Given the description of an element on the screen output the (x, y) to click on. 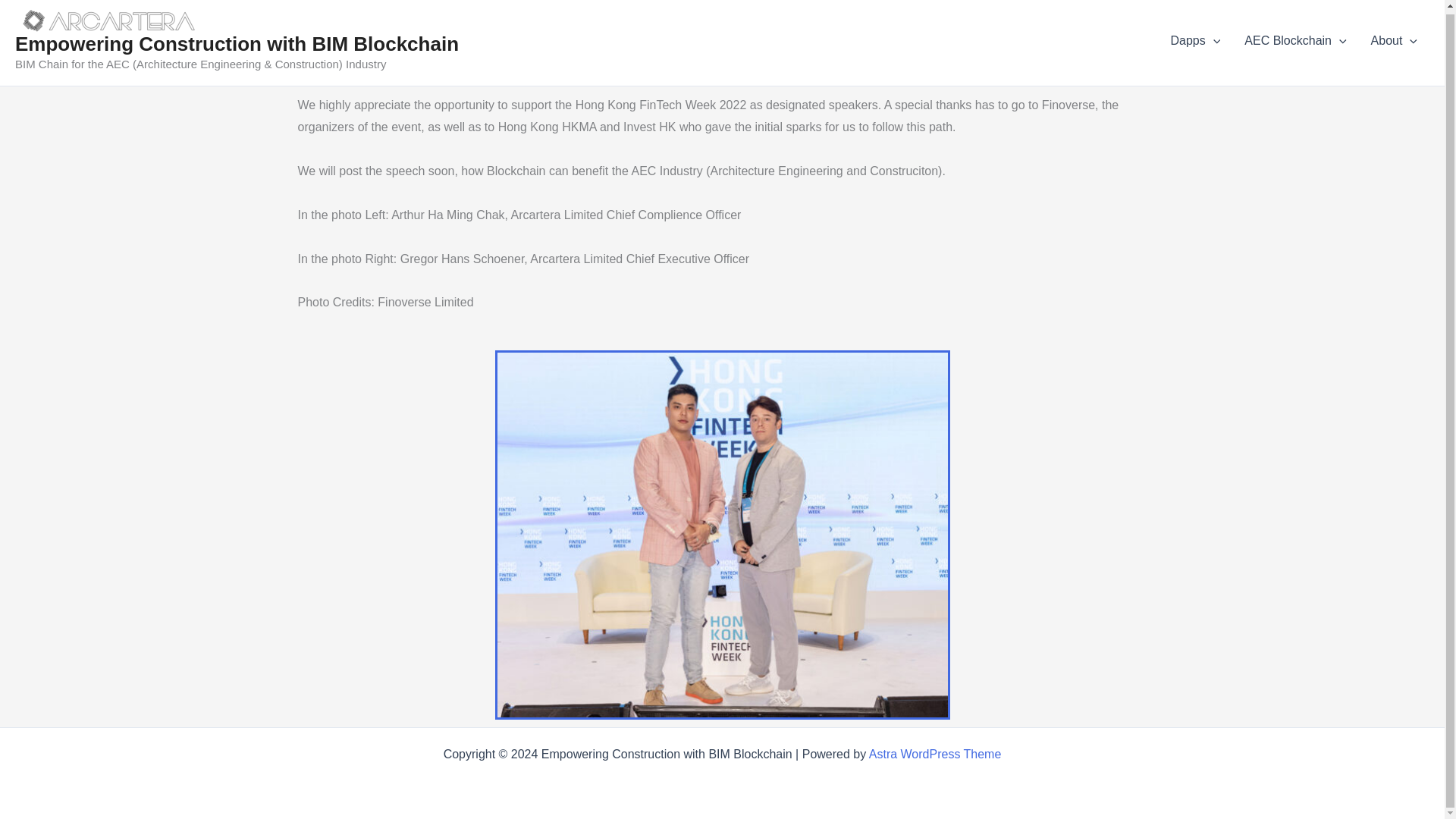
About (1393, 40)
Dapps (1194, 40)
AEC Blockchain (1294, 40)
Empowering Construction with BIM Blockchain (236, 43)
